Given the description of an element on the screen output the (x, y) to click on. 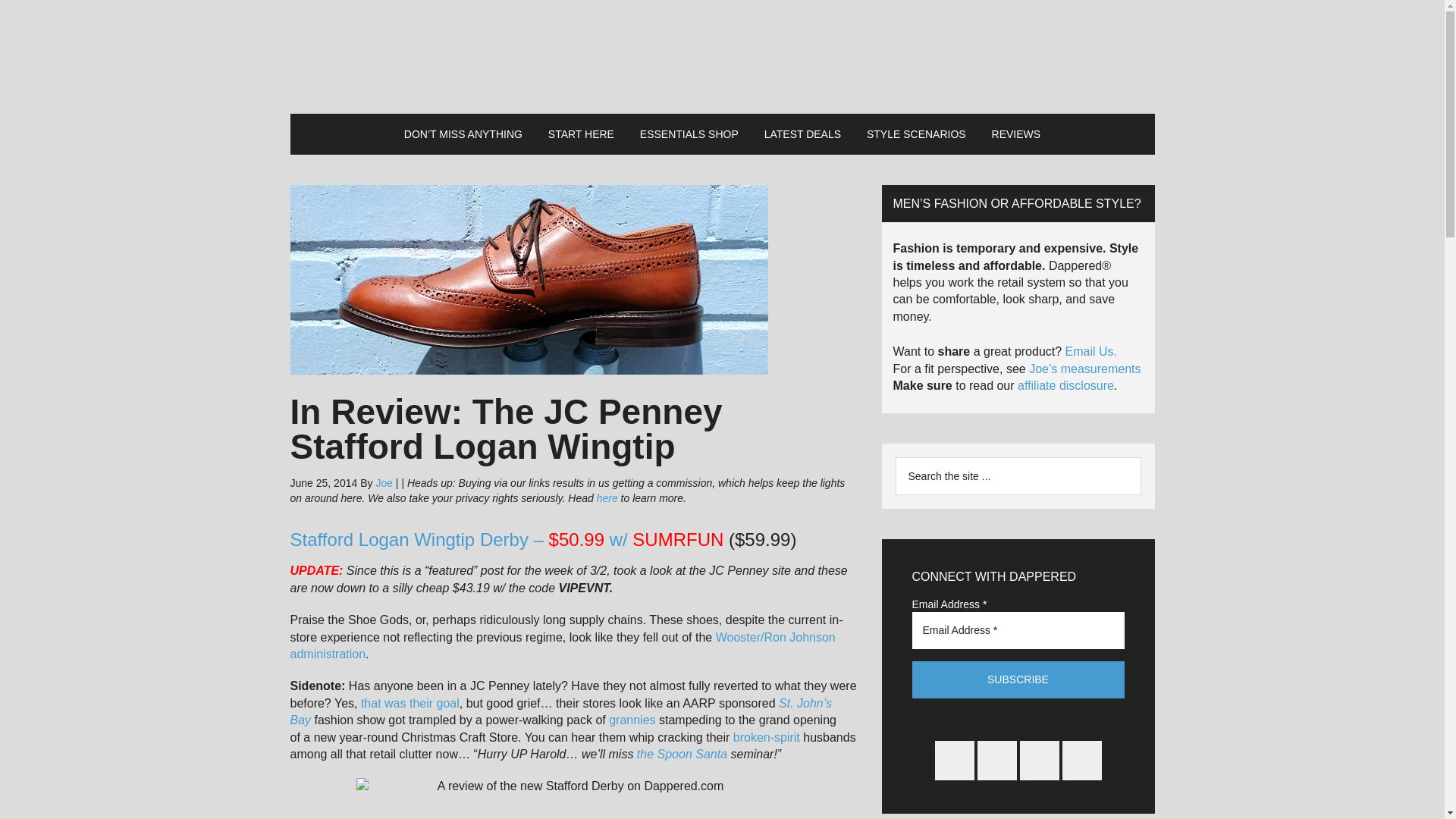
Dappered Disclosures (1065, 385)
Dappered (721, 56)
Joe (384, 482)
STYLE SCENARIOS (916, 133)
START HERE (581, 133)
broken-spirit (766, 737)
Subscribe (1017, 679)
LATEST DEALS (801, 133)
REVIEWS (1015, 133)
